Given the description of an element on the screen output the (x, y) to click on. 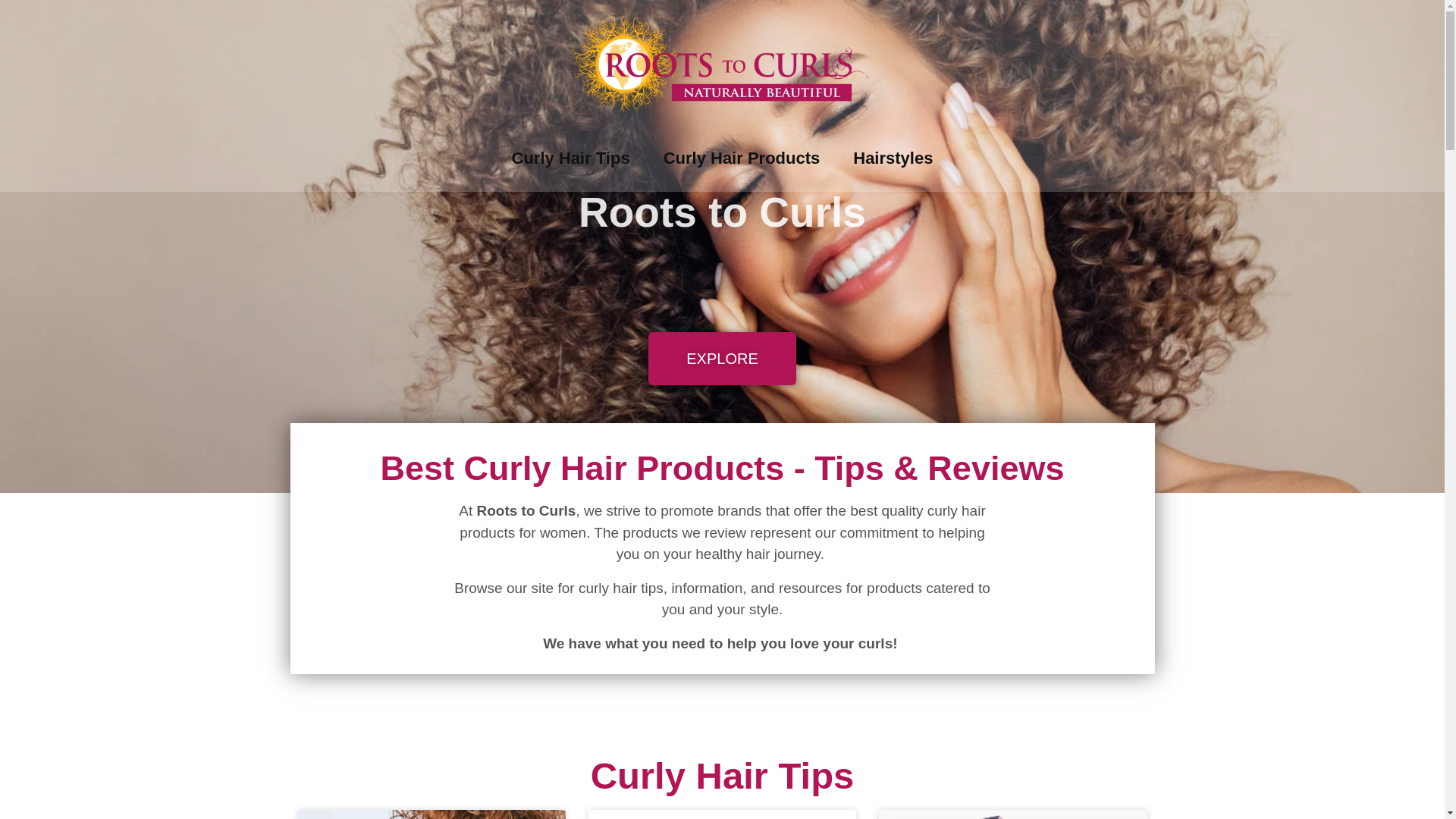
Homepage 27 (722, 814)
Curly Hair Products (741, 158)
Hairstyles (892, 158)
Homepage 29 (1013, 814)
Curly Hair Tips (570, 158)
Homepage 25 (431, 814)
EXPLORE (720, 358)
